Given the description of an element on the screen output the (x, y) to click on. 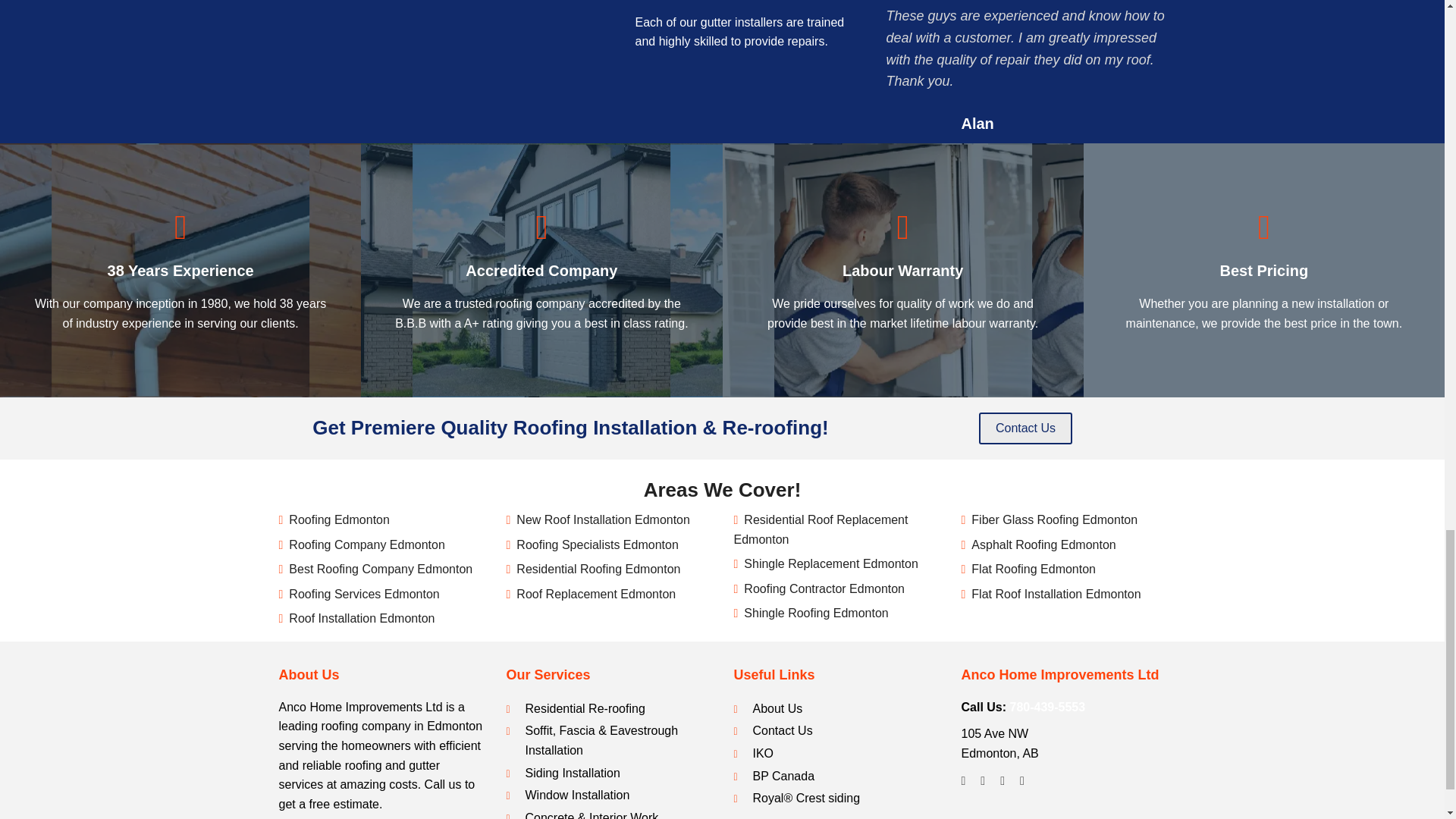
Twitter (982, 781)
Roofing Specialists Edmonton (597, 544)
Residential Roofing Edmonton (597, 568)
Roofing Services Edmonton (363, 594)
Best Roofing Company Edmonton (379, 568)
Roofing Company Edmonton (366, 544)
Roofing Edmonton (339, 519)
Roof Replacement Edmonton (595, 594)
New Roof Installation Edmonton (603, 519)
Roof Installation Edmonton (360, 617)
